Given the description of an element on the screen output the (x, y) to click on. 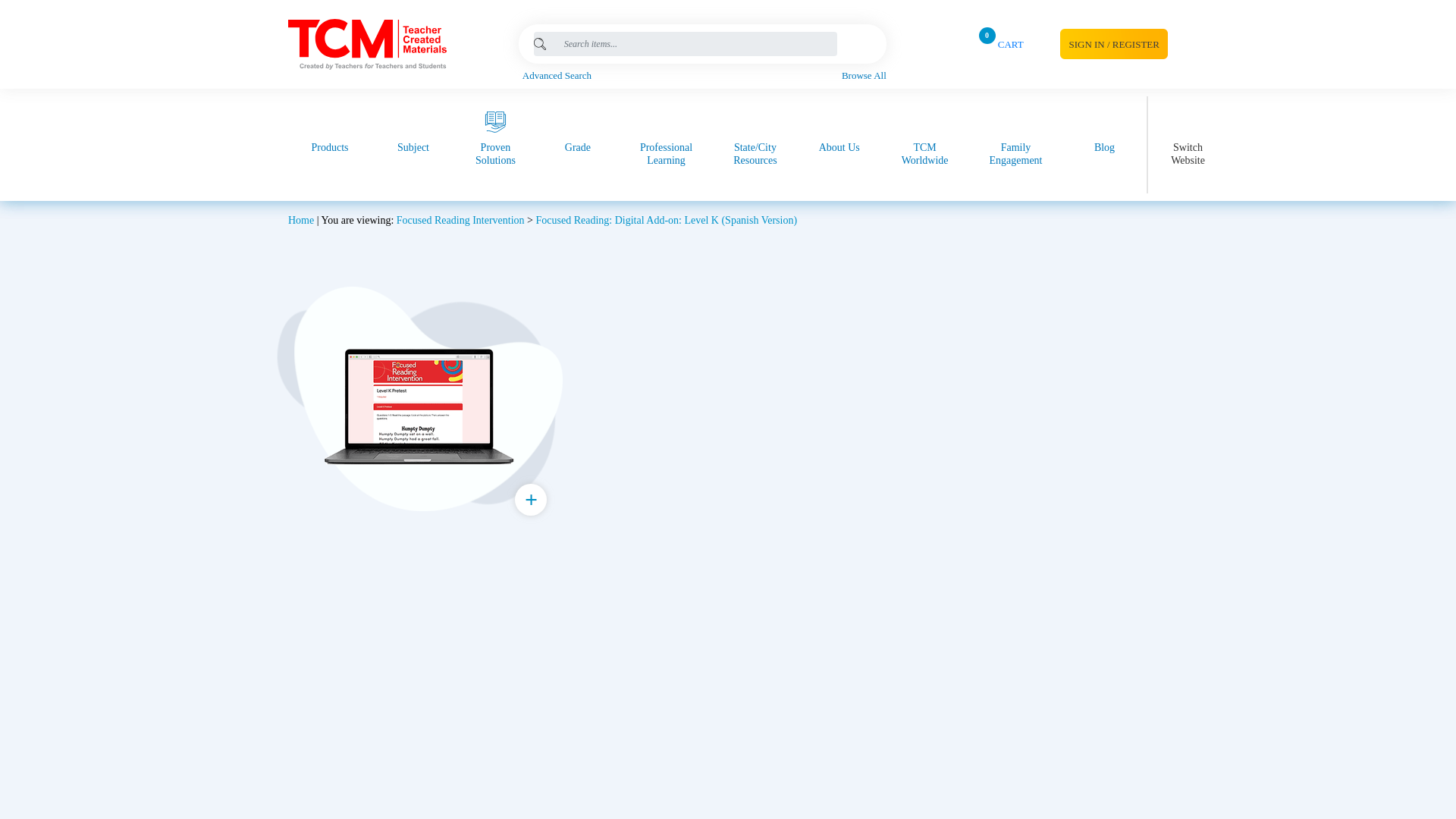
Browse All (863, 75)
Advanced Search (704, 75)
Browse All (863, 75)
Advanced Search (996, 42)
Focused Reading Intervention (704, 75)
